Given the description of an element on the screen output the (x, y) to click on. 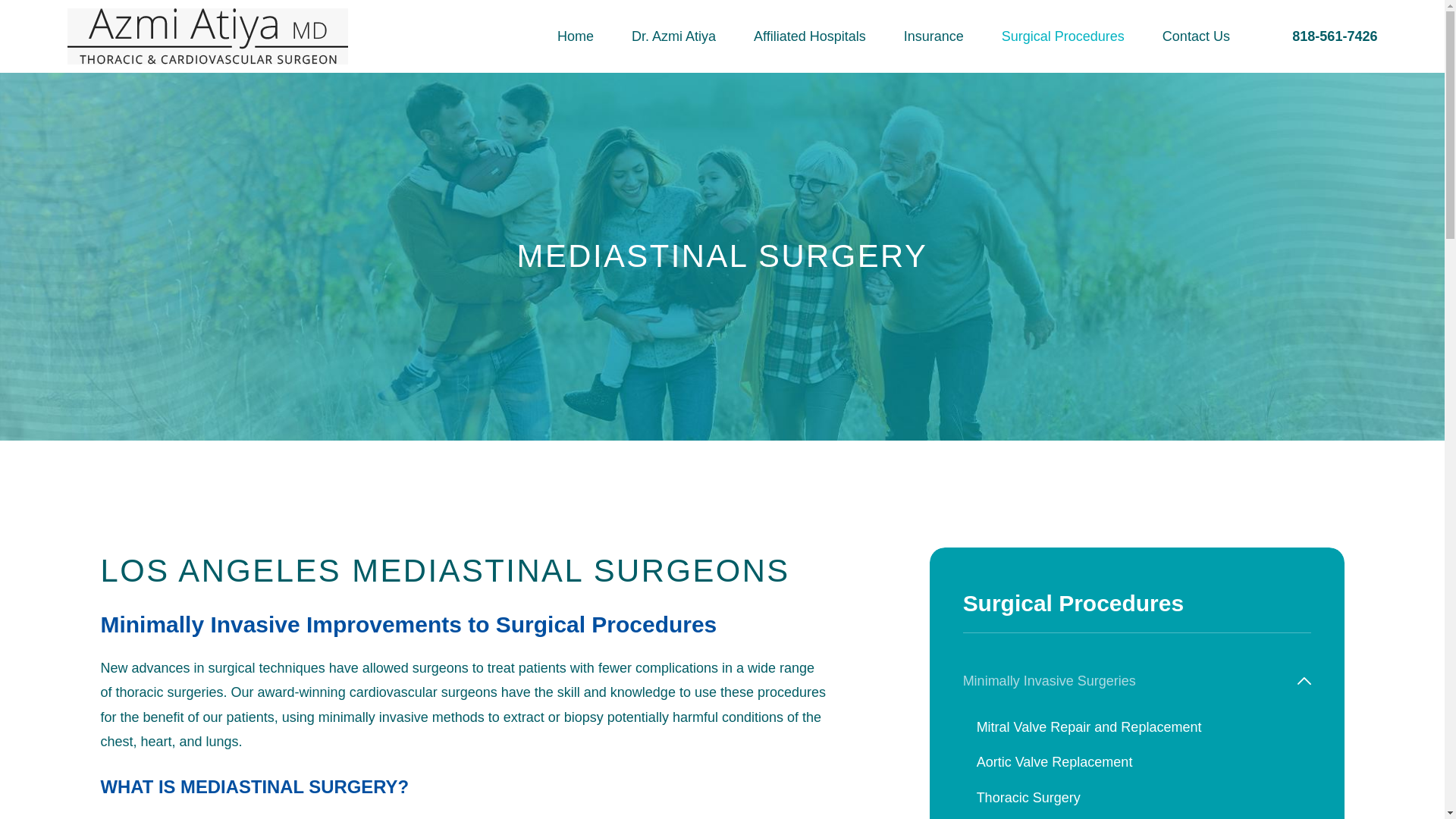
Surgical Procedures (1062, 36)
Insurance (933, 36)
Open child menu of Minimally Invasive Surgeries (1304, 680)
Home (206, 36)
Dr. Azmi Atiya (673, 36)
Affiliated Hospitals (810, 36)
